Given the description of an element on the screen output the (x, y) to click on. 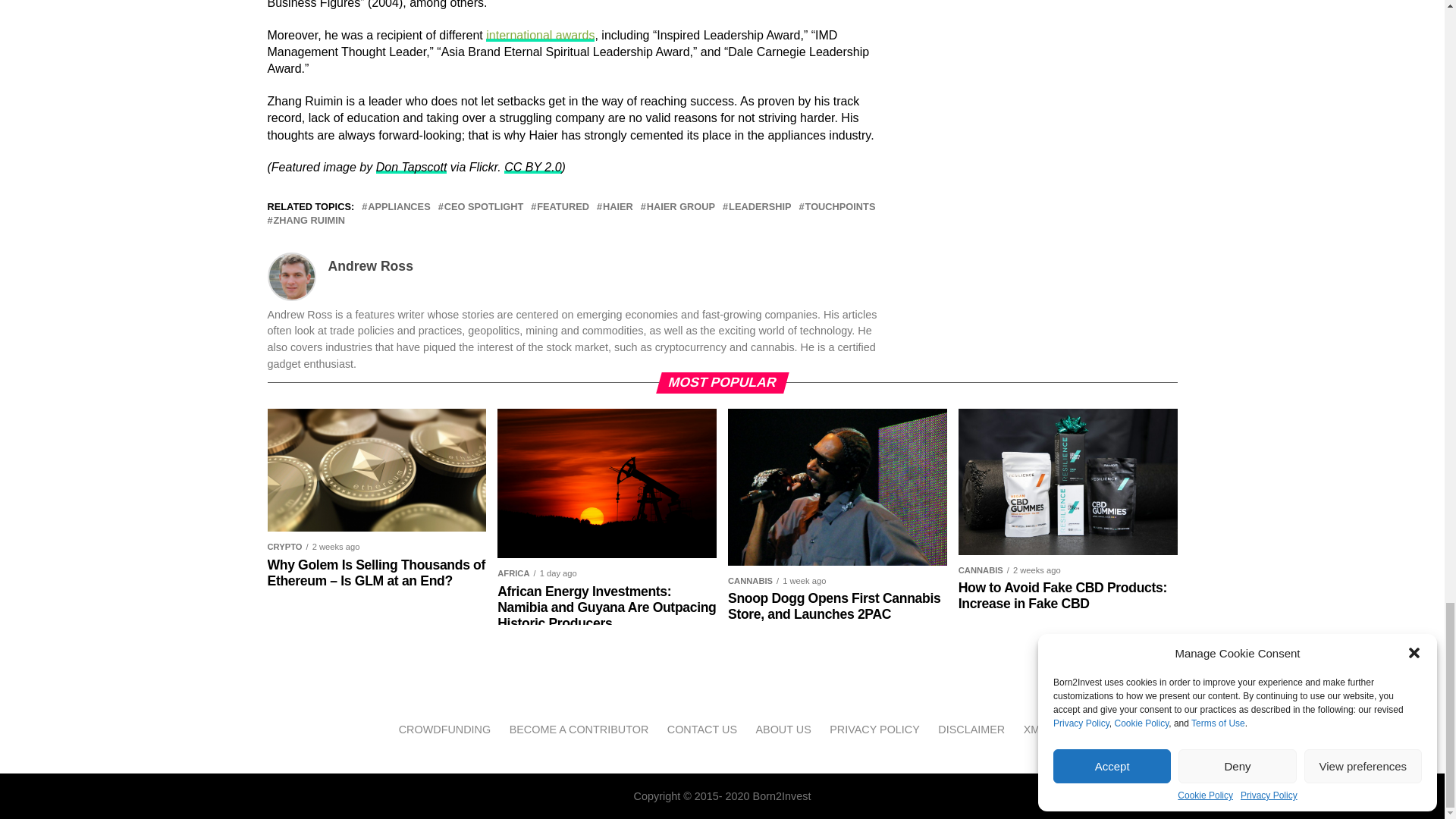
Posts by Andrew Ross (369, 265)
